Given the description of an element on the screen output the (x, y) to click on. 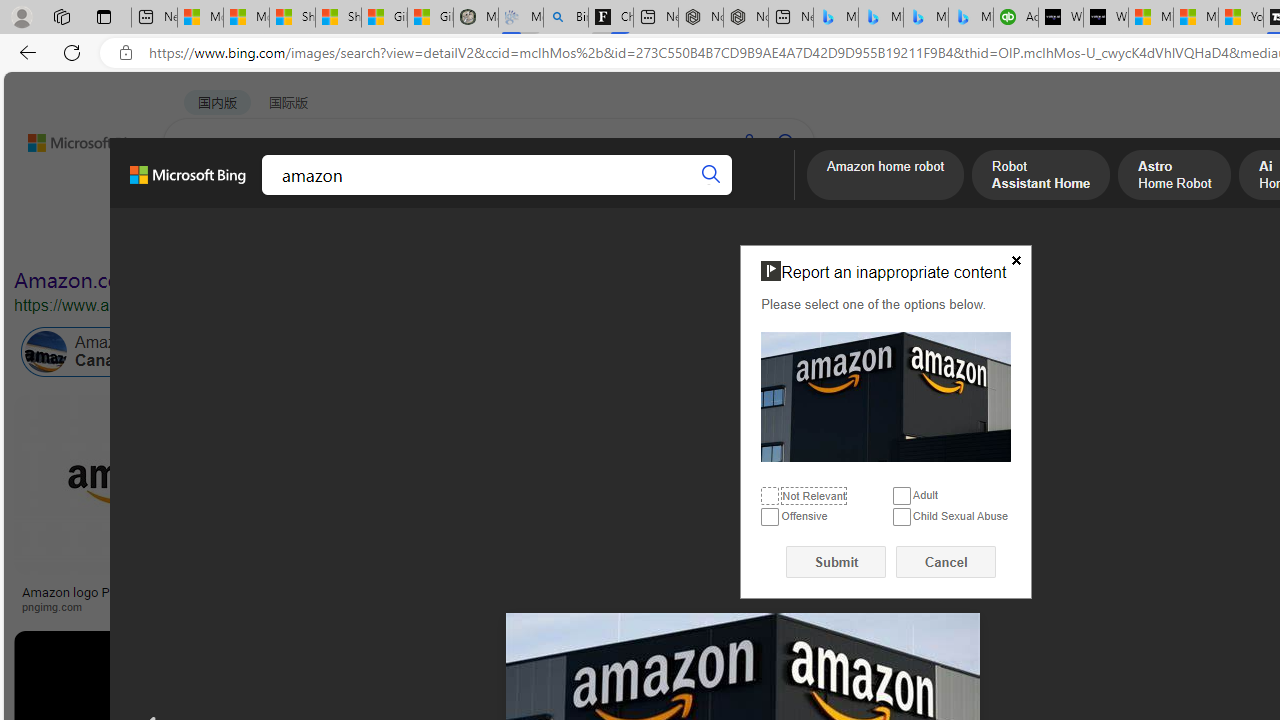
Alexa Smart Home Devices (1183, 584)
Dropdown Menu (779, 195)
Color (305, 237)
Manatee Mortality Statistics | FWC (475, 17)
mytotalretail.com (319, 605)
VIDEOS (458, 195)
IMAGES (274, 196)
Amazon Labor Law Violation in California (993, 351)
Chloe Sorvino (610, 17)
Amazon.com. Spend less. Smile more. (195, 280)
Robot Assistant Home (1041, 177)
Image result for amazon (923, 675)
